Given the description of an element on the screen output the (x, y) to click on. 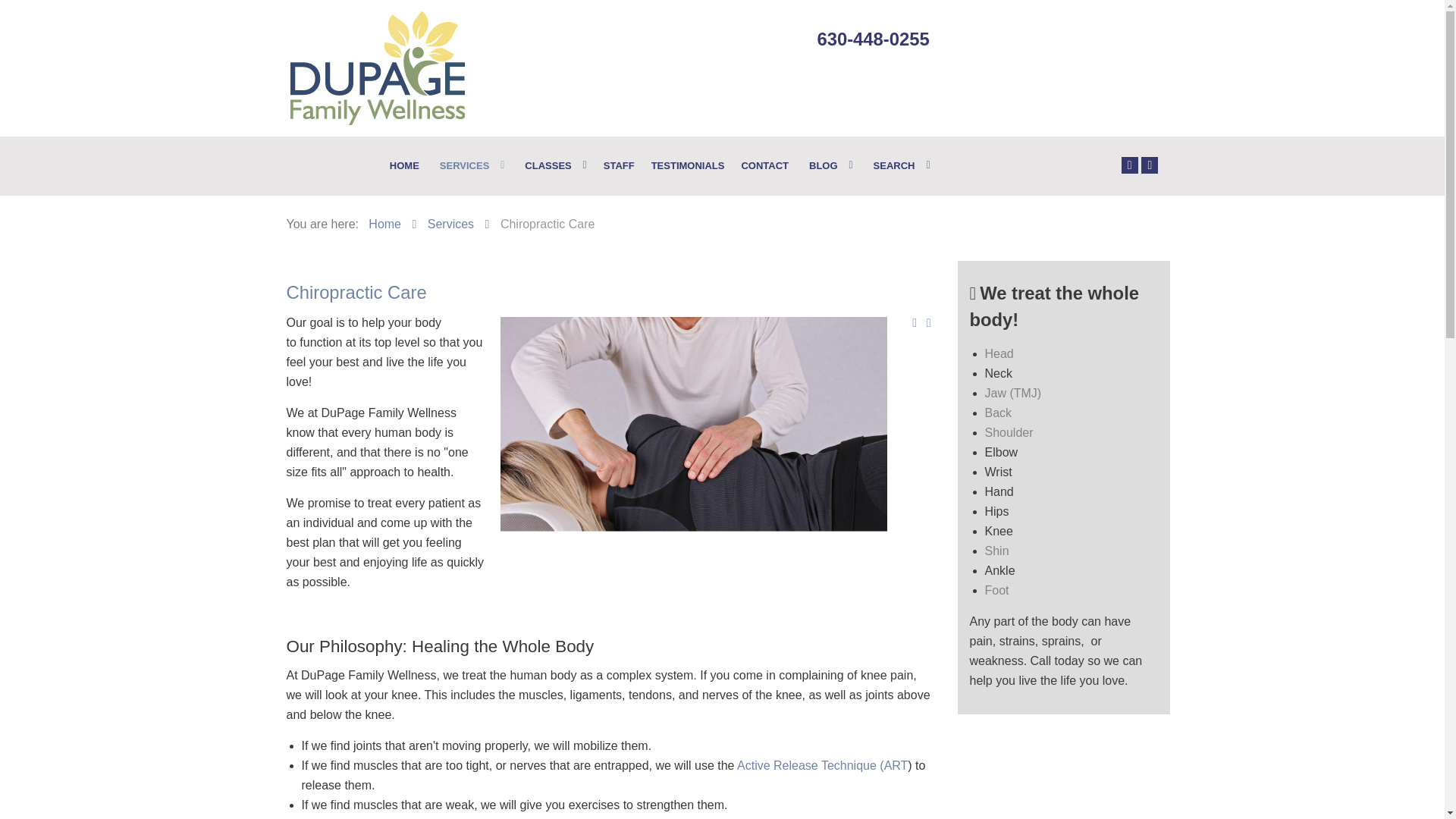
BLOG (828, 165)
CLASSES (553, 165)
Services (451, 223)
Chiropractic Care (356, 291)
SERVICES (470, 165)
SEARCH (899, 165)
Home (384, 223)
TESTIMONIALS (687, 165)
CONTACT (764, 165)
